Given the description of an element on the screen output the (x, y) to click on. 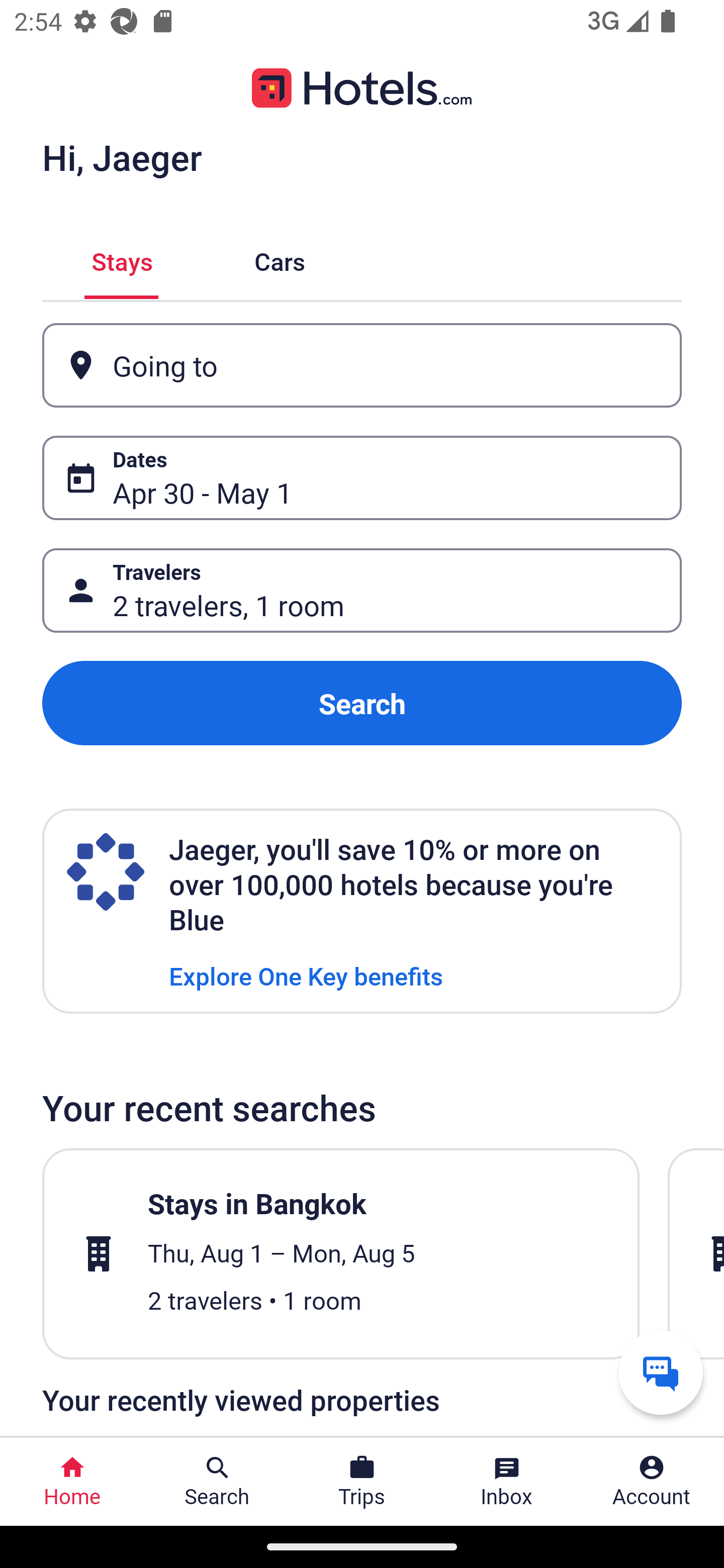
Hi, Jaeger (121, 156)
Cars (279, 259)
Going to Button (361, 365)
Dates Button Apr 30 - May 1 (361, 477)
Travelers Button 2 travelers, 1 room (361, 590)
Search (361, 702)
Get help from a virtual agent (660, 1371)
Search Search Button (216, 1481)
Trips Trips Button (361, 1481)
Inbox Inbox Button (506, 1481)
Account Profile. Button (651, 1481)
